Given the description of an element on the screen output the (x, y) to click on. 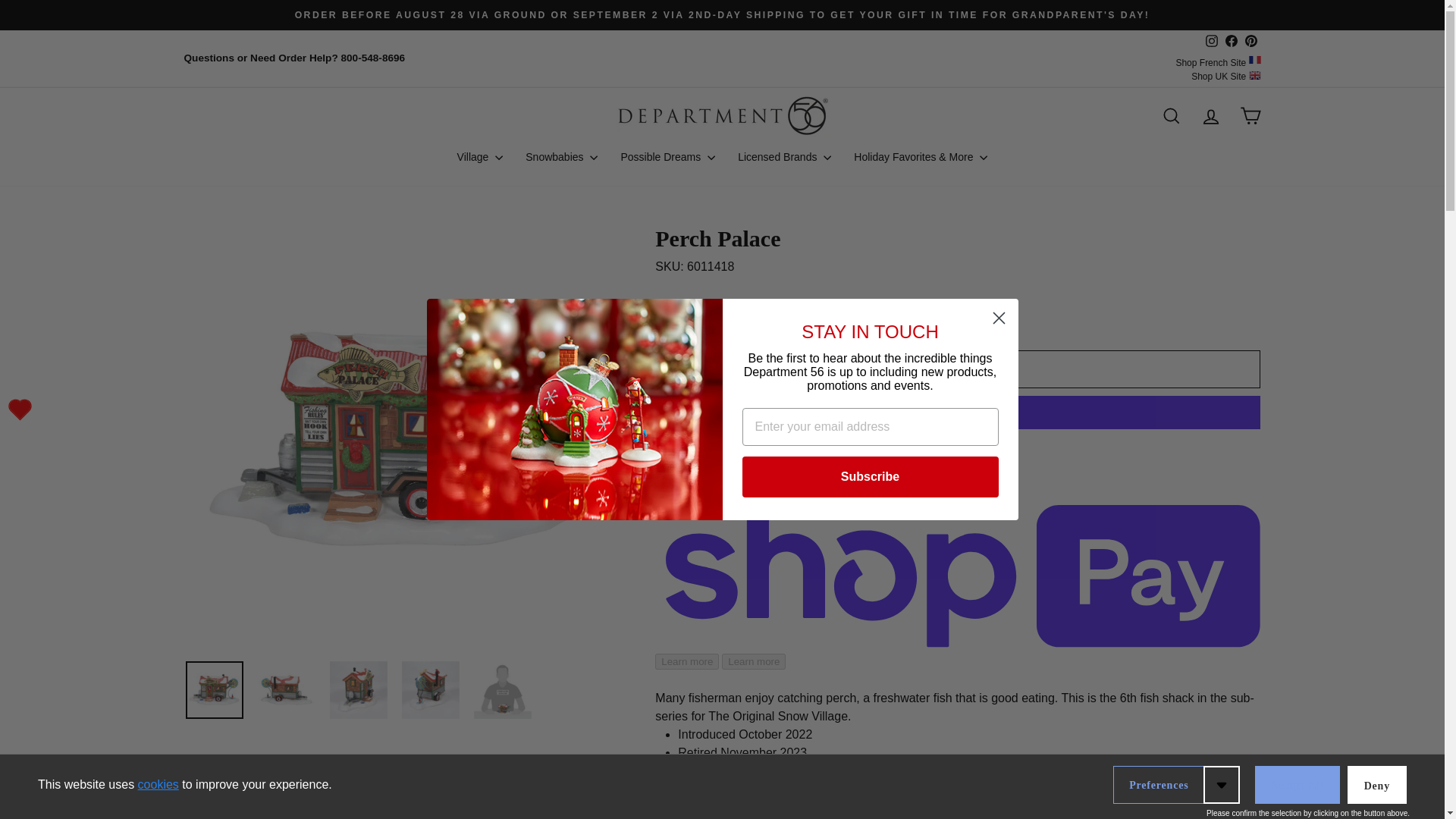
account (1210, 116)
Wishlist (19, 409)
instagram (1211, 40)
icon-search (1170, 115)
